Given the description of an element on the screen output the (x, y) to click on. 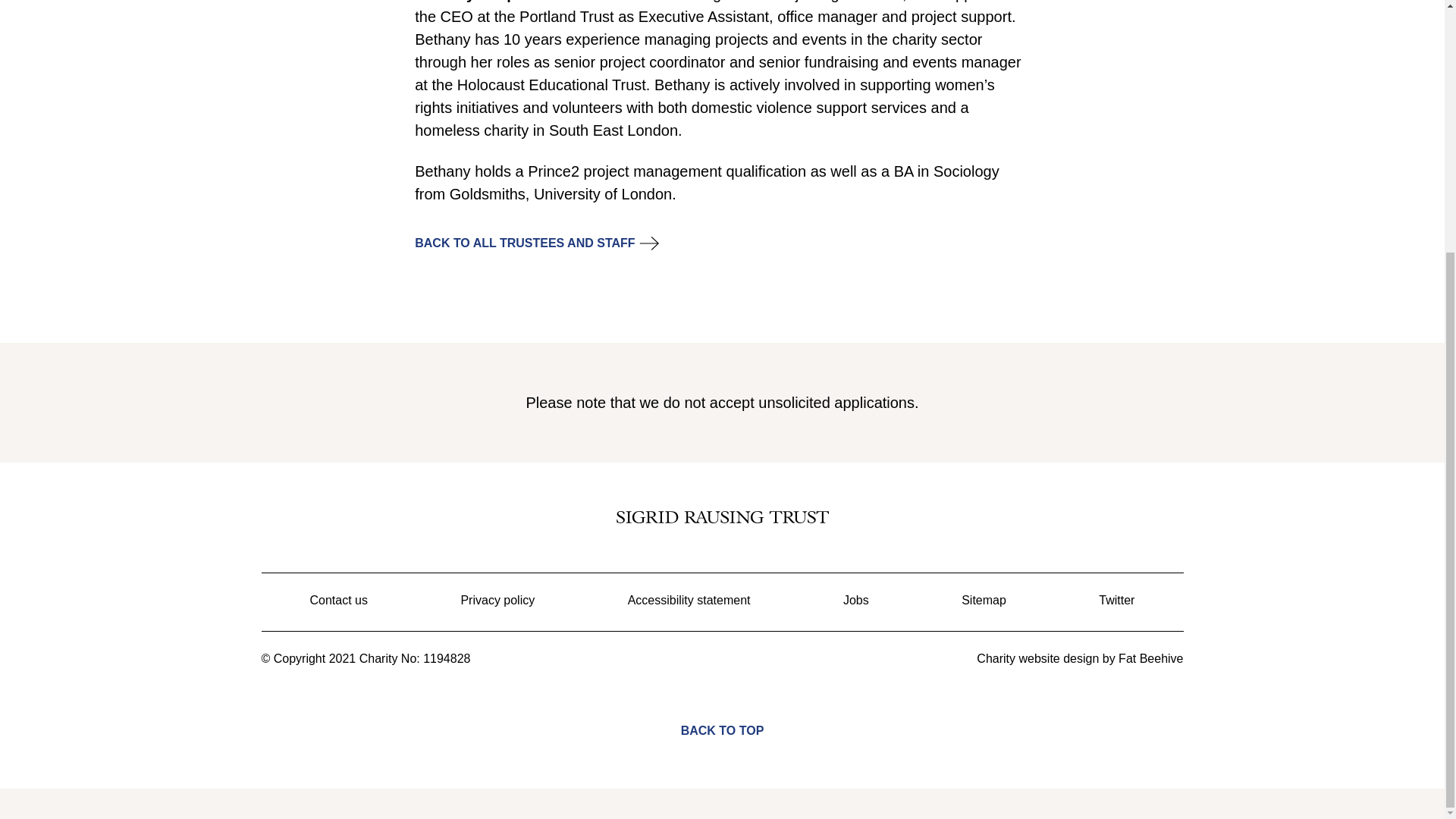
Contact us (337, 599)
Fat Beehive (1150, 658)
Twitter (1116, 599)
Jobs (856, 599)
BACK TO TOP (721, 718)
Accessibility statement (689, 599)
Sitemap (983, 599)
Privacy policy (497, 599)
BACK TO ALL TRUSTEES AND STAFF (524, 242)
